Given the description of an element on the screen output the (x, y) to click on. 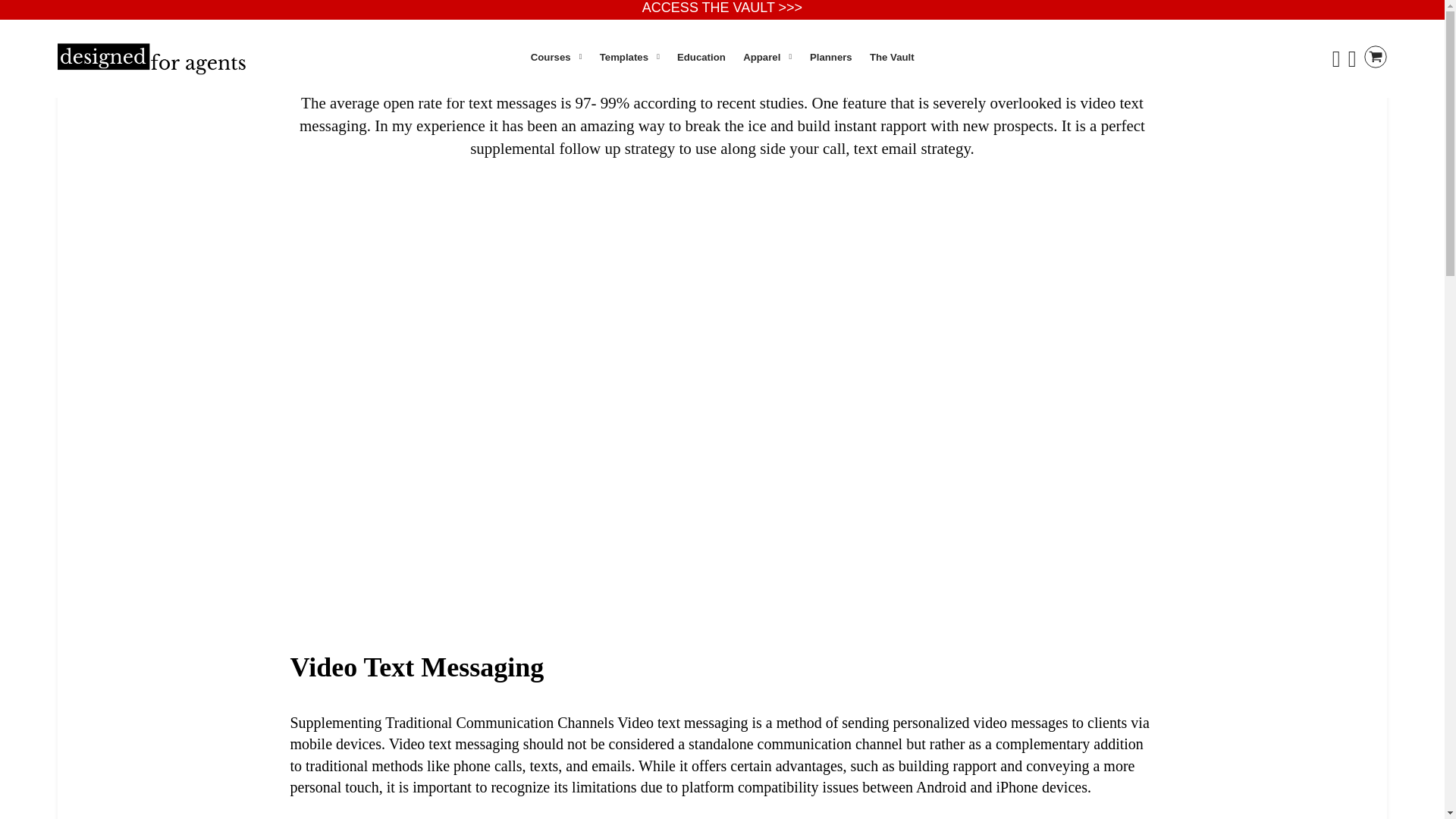
Templates (629, 56)
Apparel (767, 56)
Education (701, 56)
Courses (555, 56)
